Given the description of an element on the screen output the (x, y) to click on. 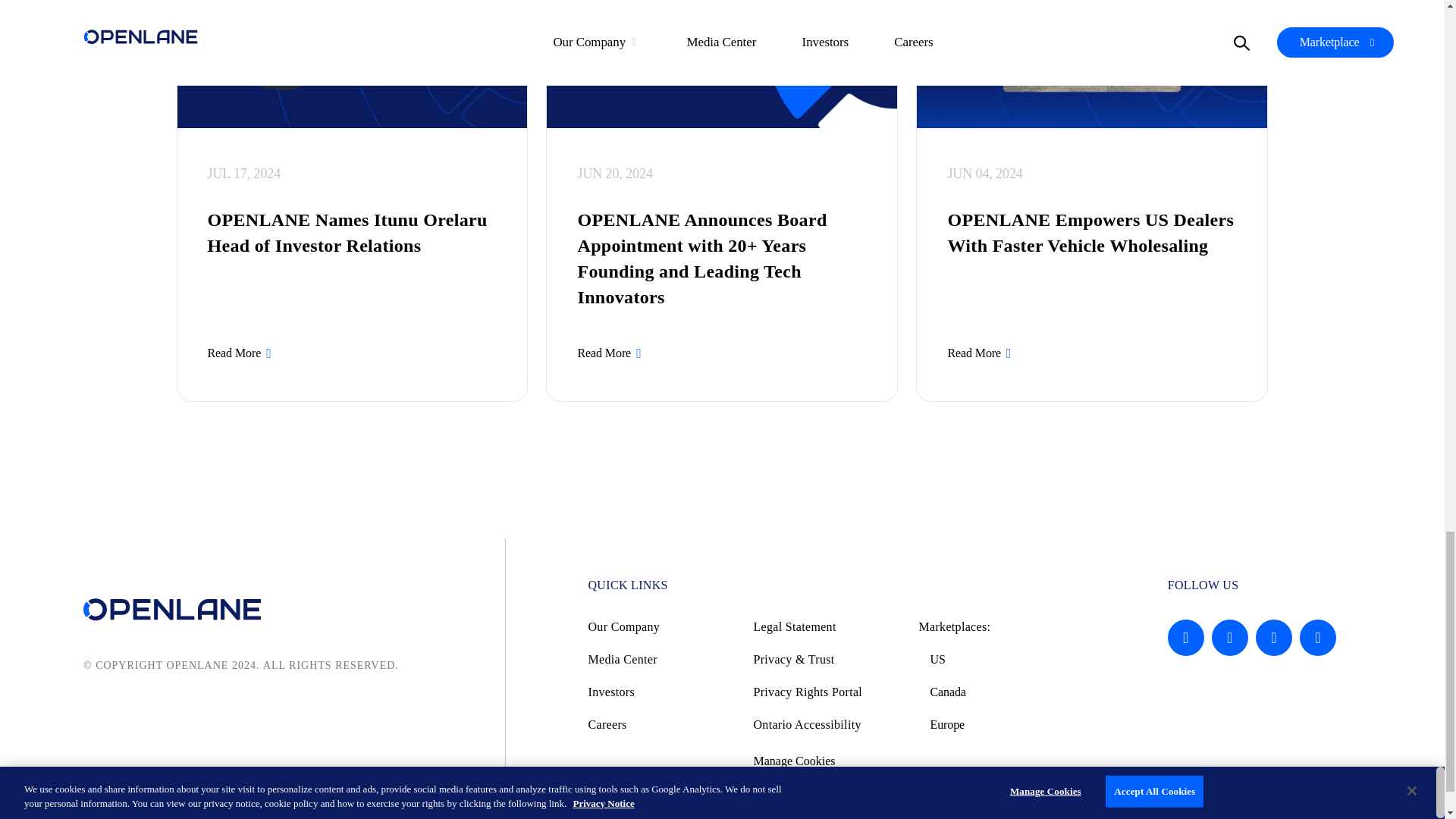
Legal Statement (825, 626)
Investors (661, 691)
Read More (609, 353)
Read More (980, 353)
Media Center (661, 658)
OPENLANE Names Itunu Orelaru Head of Investor Relations (352, 232)
OPENLANE Empowers US Dealers With Faster Vehicle Wholesaling (1091, 232)
Our Company (661, 626)
Read More (241, 353)
Careers (661, 724)
